Given the description of an element on the screen output the (x, y) to click on. 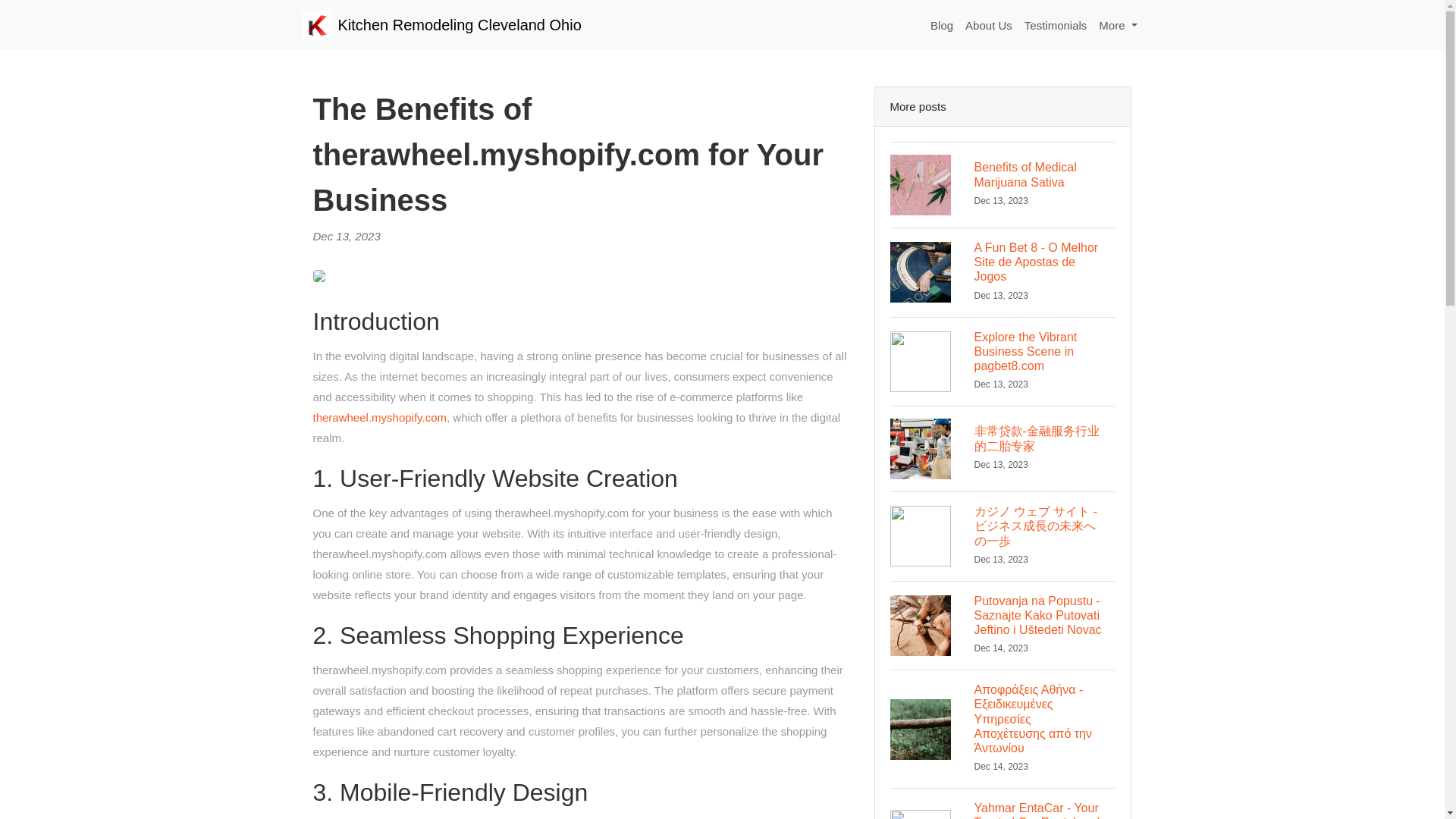
therawheel.myshopify.com (379, 417)
Kitchen Remodeling Cleveland Ohio (1002, 184)
About Us (440, 24)
Testimonials (1002, 271)
More (988, 25)
Blog (1055, 25)
